Given the description of an element on the screen output the (x, y) to click on. 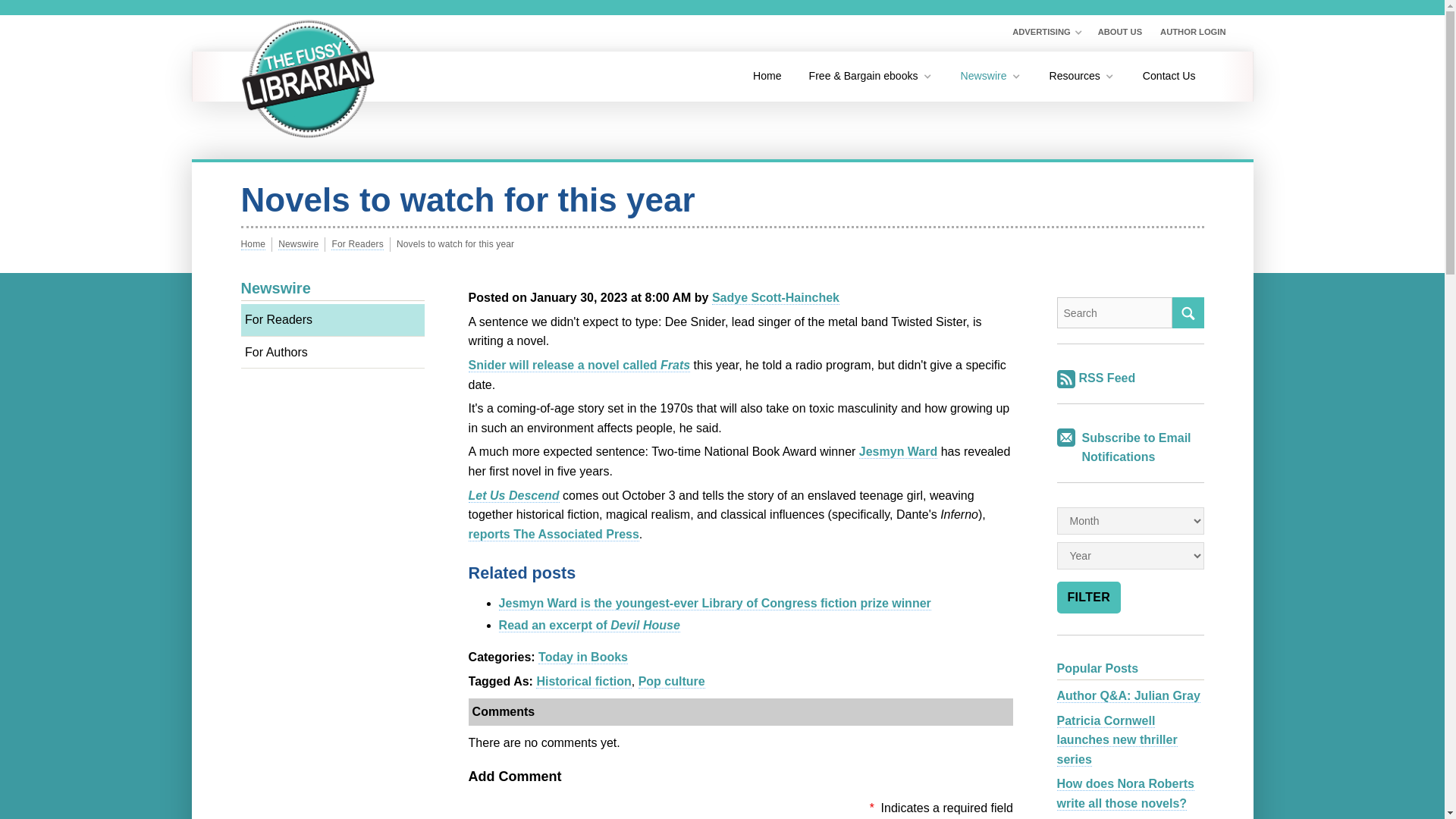
Resources (1081, 76)
Newswire (991, 76)
ADVERTISING (1046, 32)
AUTHOR LOGIN (1192, 32)
Home (767, 76)
Contact Us (1169, 76)
ABOUT US (1119, 32)
